Given the description of an element on the screen output the (x, y) to click on. 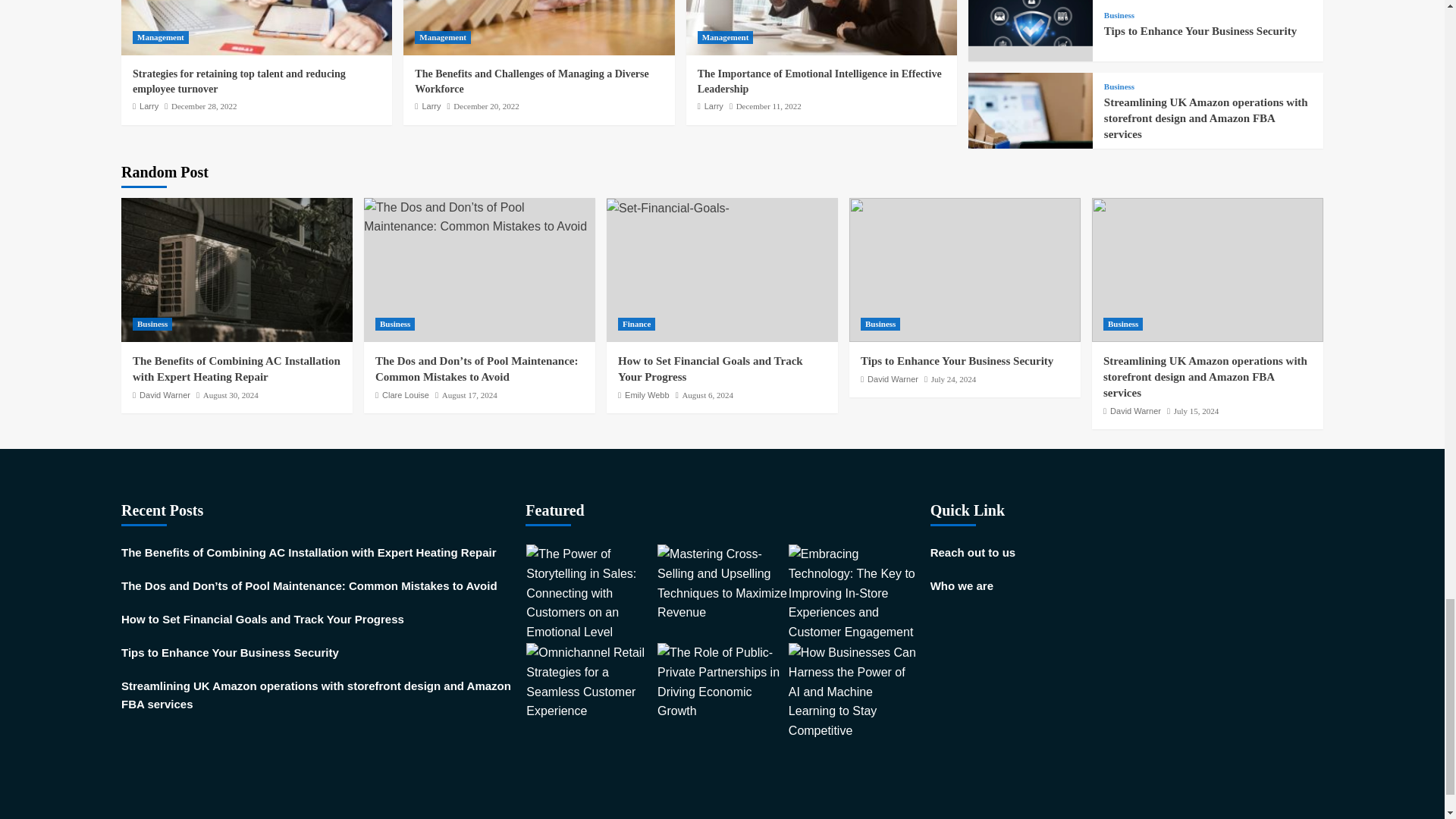
Larry (431, 105)
Management (442, 37)
Larry (713, 105)
Management (160, 37)
Larry (148, 105)
Management (725, 37)
December 20, 2022 (485, 105)
The Benefits and Challenges of Managing a Diverse Workforce (530, 81)
